Given the description of an element on the screen output the (x, y) to click on. 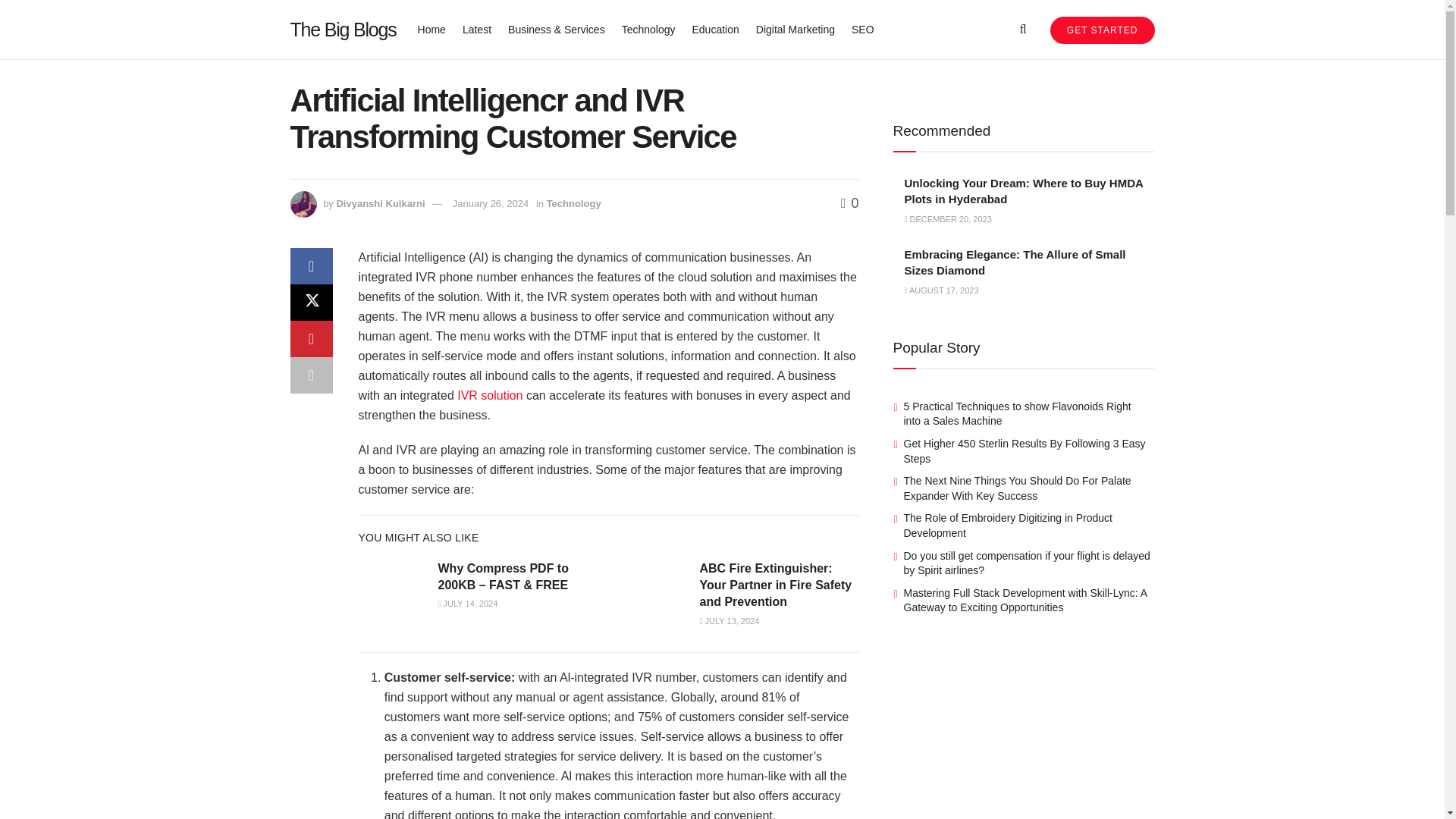
IVR solution (489, 395)
The Big Blogs (342, 28)
January 26, 2024 (490, 203)
Divyanshi Kulkarni (380, 203)
Home (431, 29)
Education (714, 29)
GET STARTED (1101, 30)
0 (850, 202)
Digital Marketing (794, 29)
Technology (574, 203)
JULY 14, 2024 (467, 603)
Latest (477, 29)
SEO (863, 29)
Technology (648, 29)
